Given the description of an element on the screen output the (x, y) to click on. 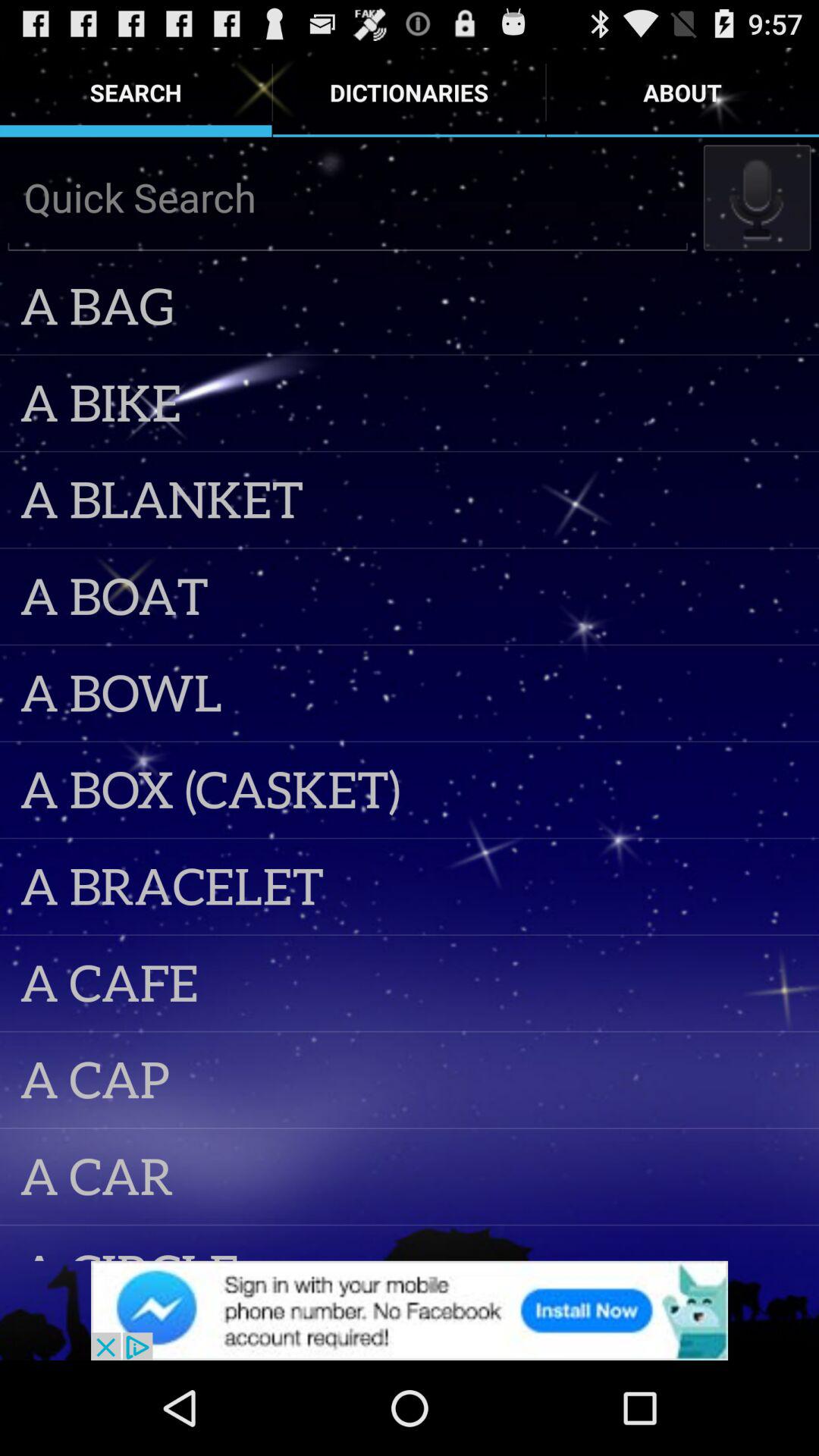
select the tab on the top right corner of the web page (683, 92)
